Given the description of an element on the screen output the (x, y) to click on. 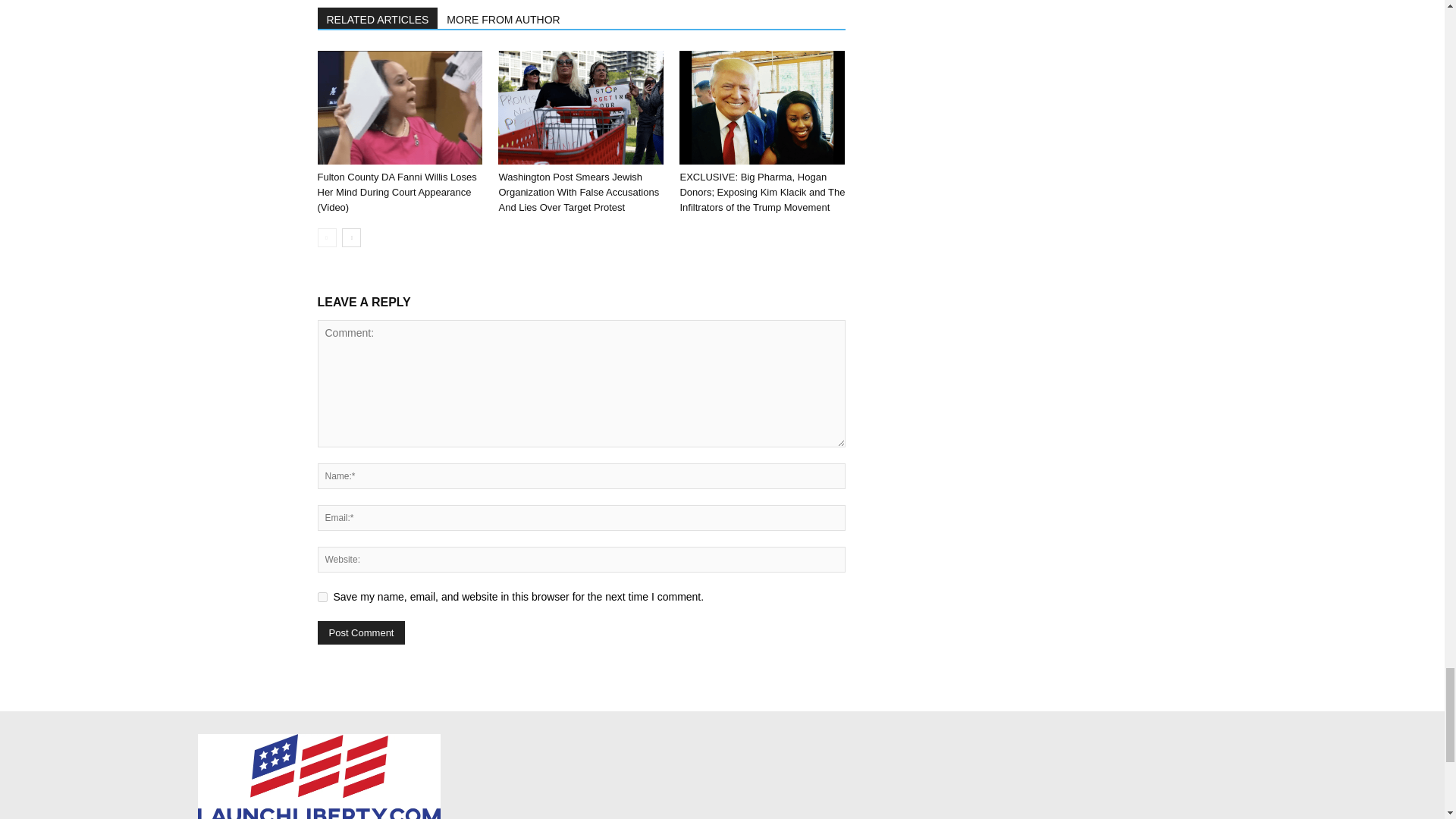
Post Comment (360, 632)
yes (321, 596)
